Given the description of an element on the screen output the (x, y) to click on. 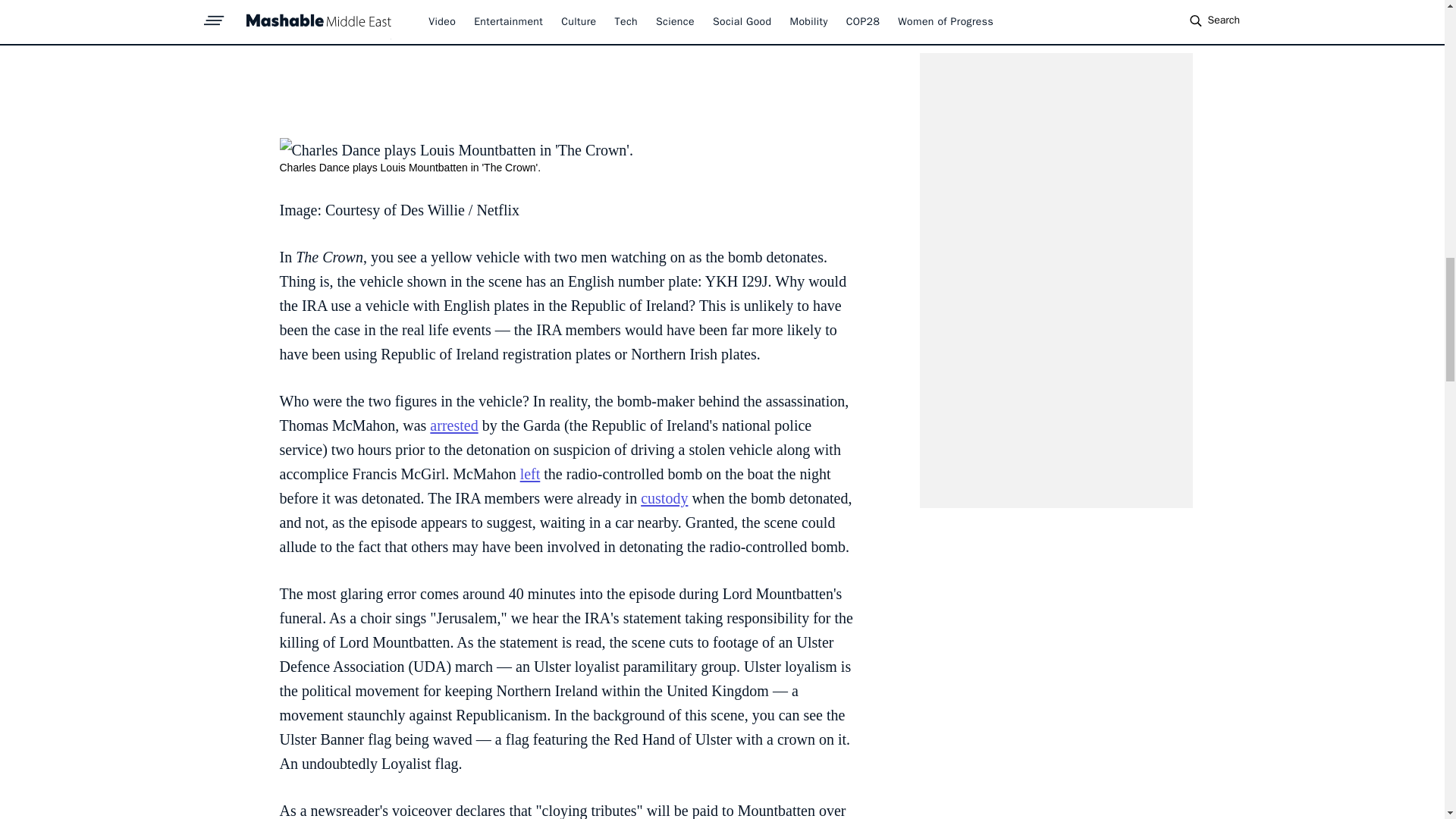
custody (663, 497)
arrested (453, 425)
left (529, 474)
